Given the description of an element on the screen output the (x, y) to click on. 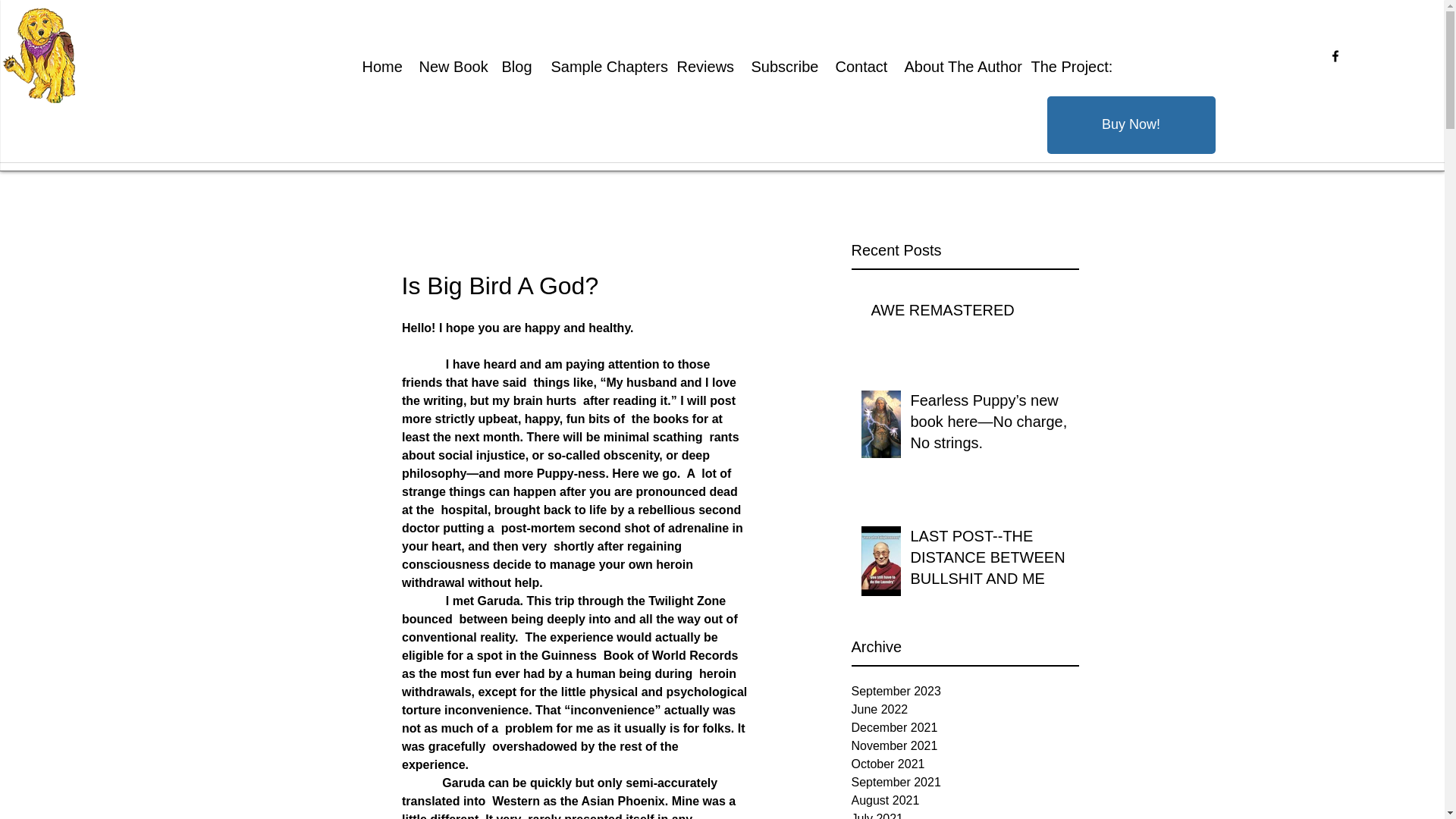
October 2021 (964, 764)
Reviews (702, 66)
Buy Now! (1130, 124)
September 2023 (964, 691)
About The Author (956, 66)
November 2021 (964, 746)
Home (378, 66)
July 2021 (964, 814)
Subscribe (781, 66)
The Project: (1066, 66)
